Given the description of an element on the screen output the (x, y) to click on. 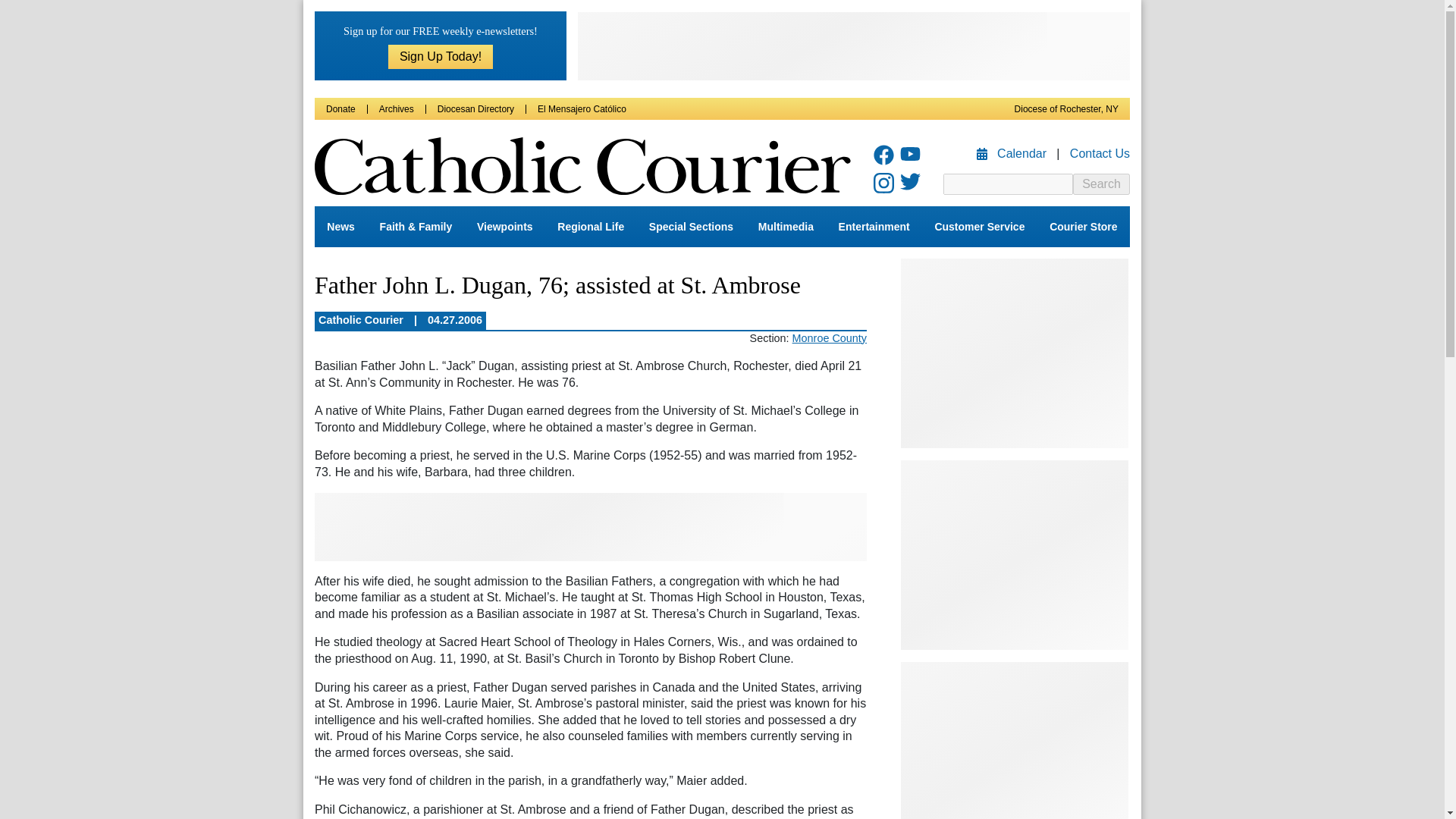
Viewpoints (504, 226)
Diocese of Rochester, NY (1066, 108)
3rd party ad content (853, 46)
News (340, 226)
Search (1101, 183)
  Calendar (1012, 153)
Sign Up Today! (440, 56)
Contact Us (1099, 153)
Search (1101, 183)
3rd party ad content (590, 527)
